Given the description of an element on the screen output the (x, y) to click on. 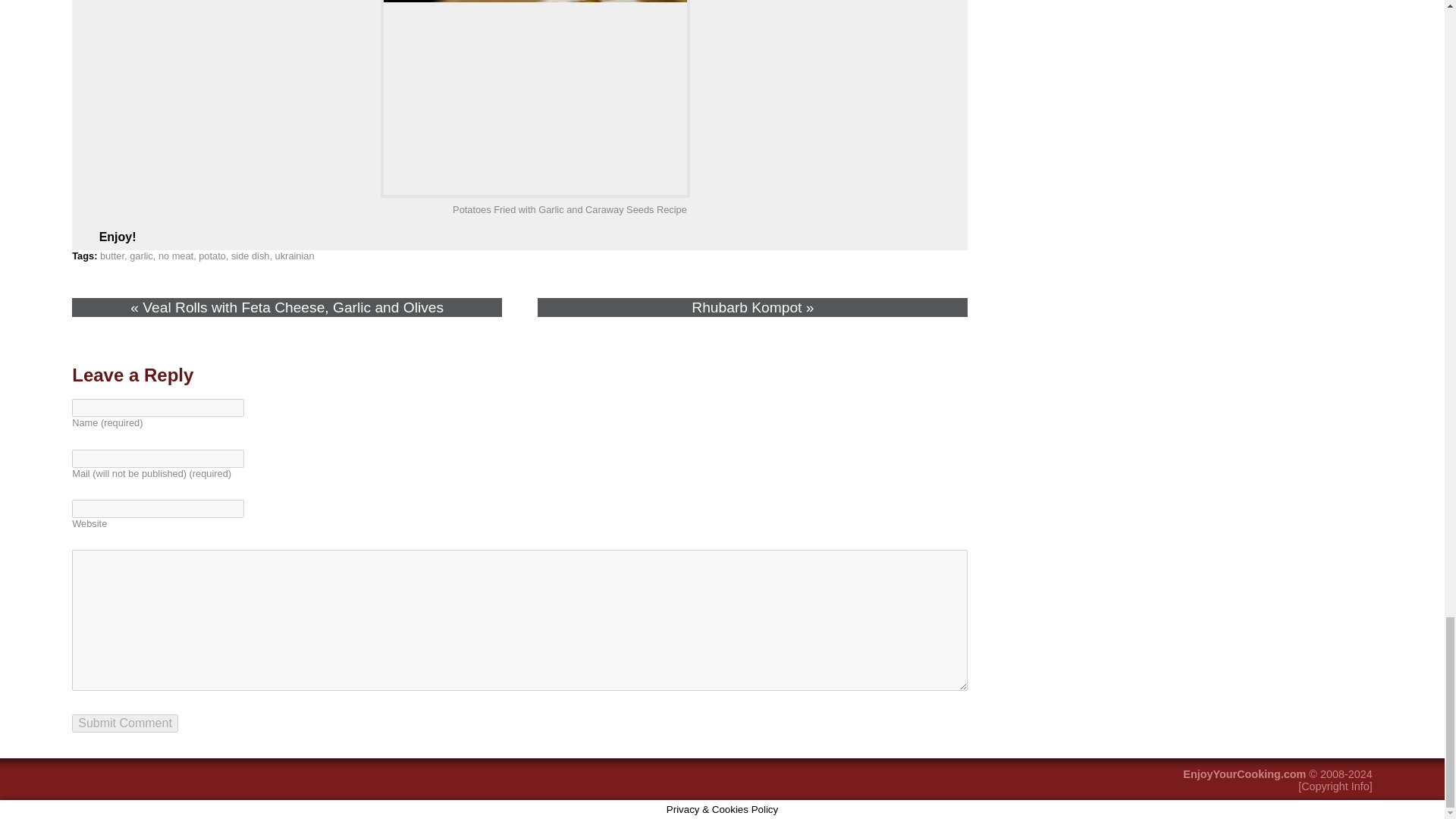
potato (211, 255)
side dish (250, 255)
butter (111, 255)
Submit Comment (124, 723)
no meat (175, 255)
garlic (140, 255)
Submit Comment (124, 723)
ukrainian (294, 255)
